Given the description of an element on the screen output the (x, y) to click on. 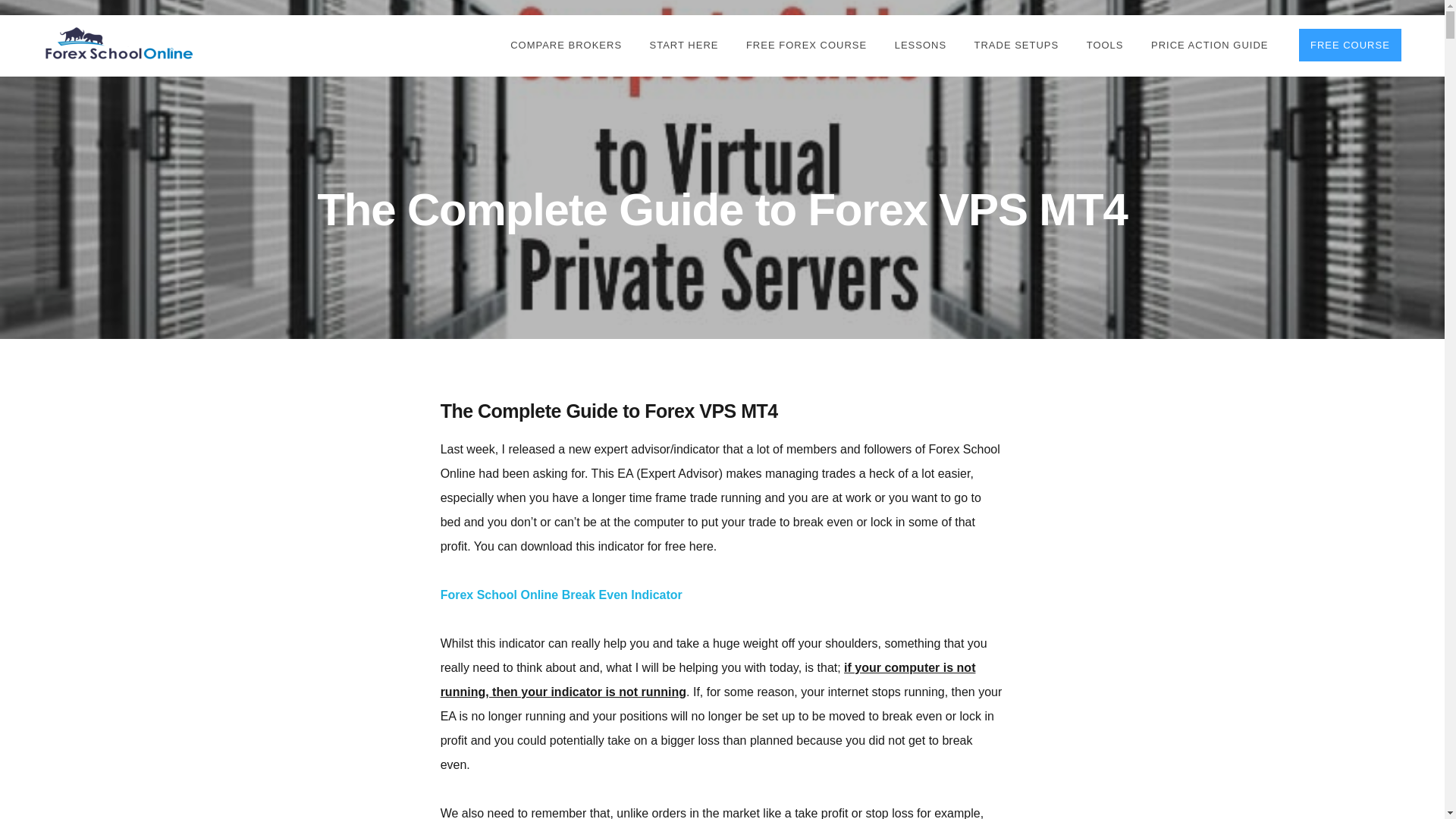
ForexSchoolOnline.com (119, 43)
START HERE (684, 44)
COMPARE BROKERS (566, 44)
